Given the description of an element on the screen output the (x, y) to click on. 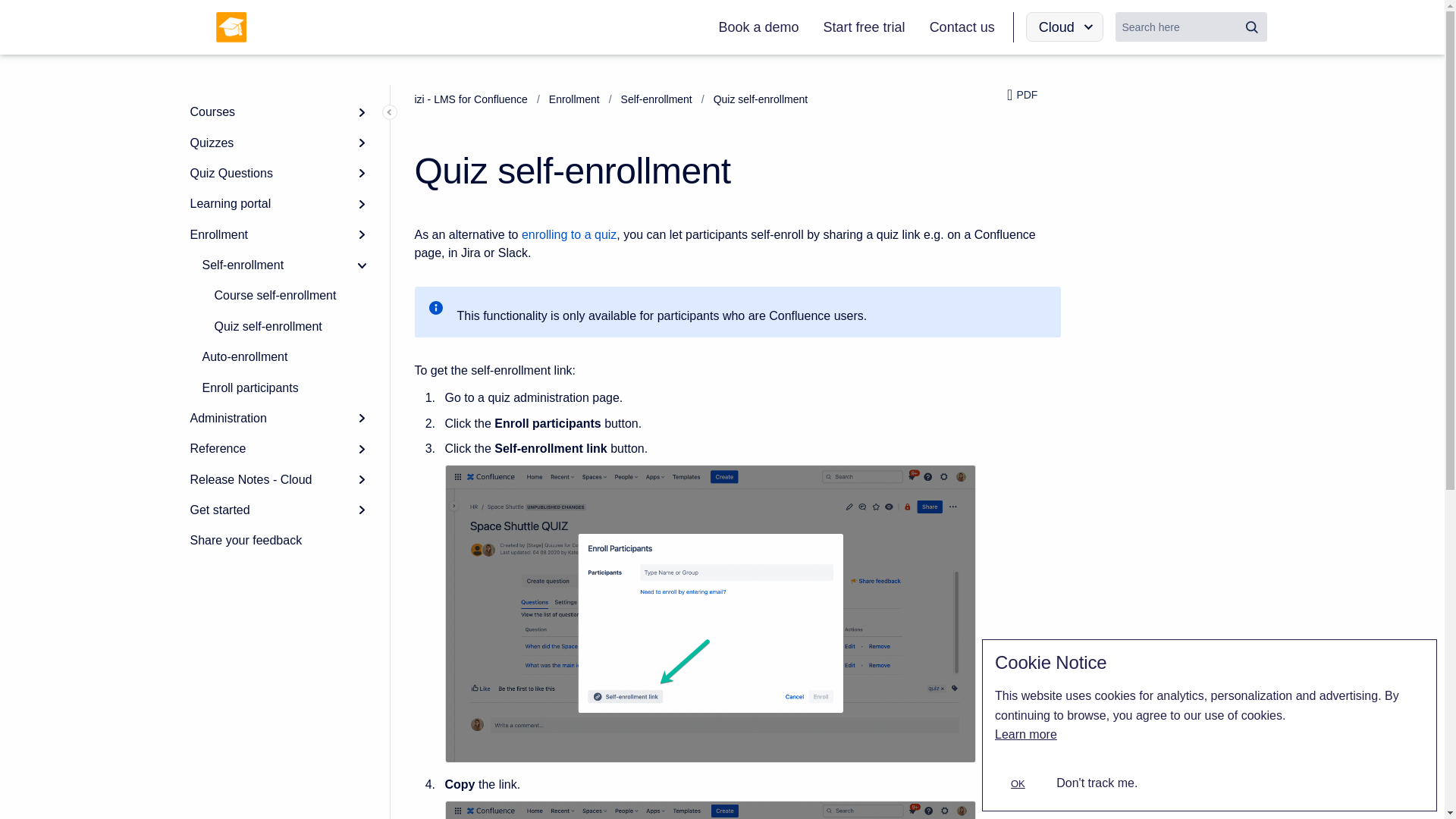
Course self-enrollment (289, 295)
Contact us (962, 27)
Courses (277, 112)
Cloud (1064, 26)
PDF (1034, 95)
Learning portal (277, 204)
Book a demo (758, 27)
Enrollment (277, 235)
Quizzes (277, 142)
izi - LMS for Confluence (470, 99)
